Given the description of an element on the screen output the (x, y) to click on. 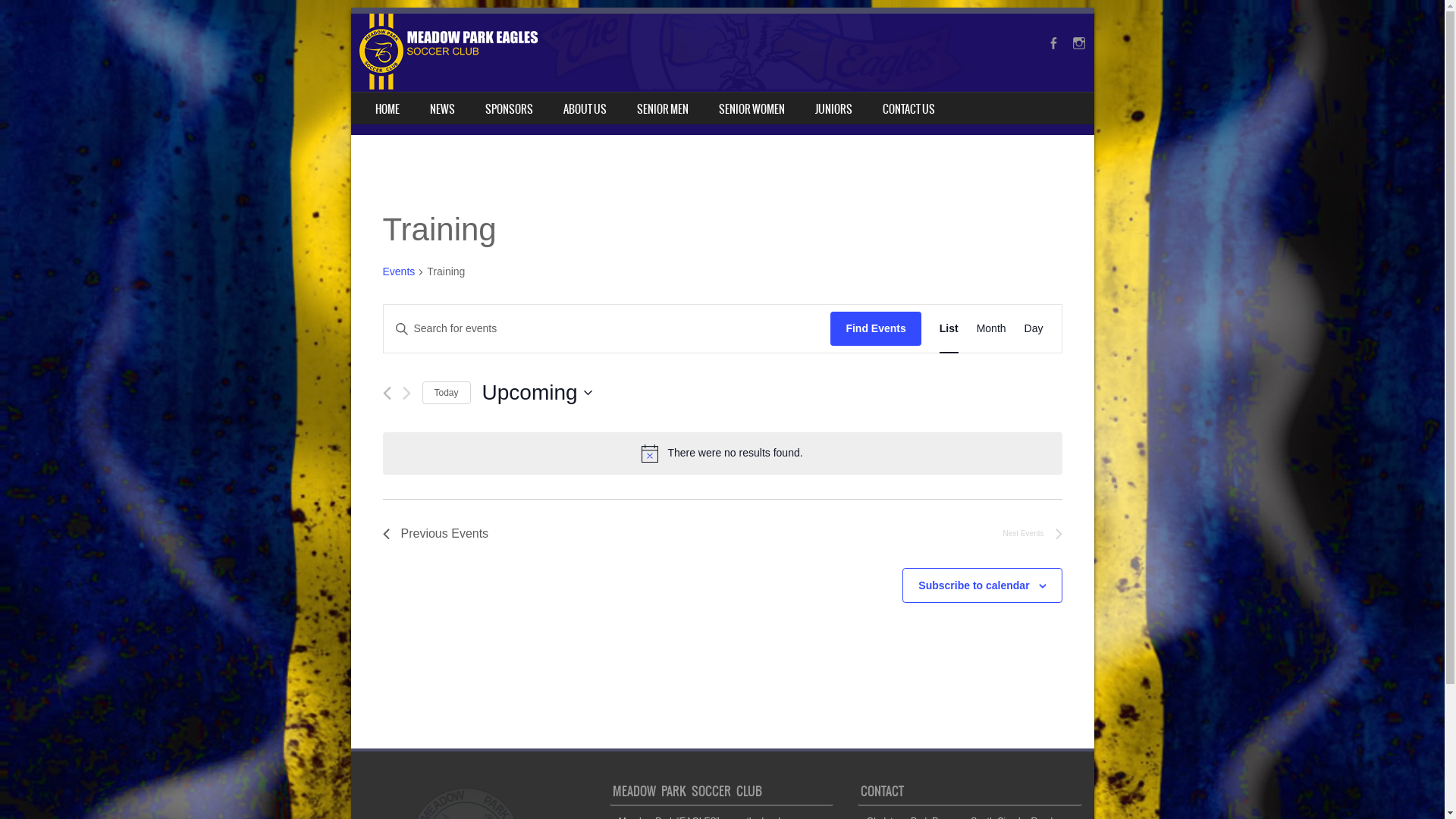
SPONSORS Element type: text (509, 108)
SKIP TO CONTENT Element type: text (386, 102)
Events Element type: text (398, 272)
Day Element type: text (1033, 328)
Month Element type: text (991, 328)
Next Events Element type: hover (405, 392)
Next Events Element type: text (1032, 533)
NEWS Element type: text (441, 108)
HOME Element type: text (386, 108)
JUNIORS Element type: text (832, 108)
SENIOR WOMEN Element type: text (751, 108)
Previous Events Element type: text (435, 533)
Upcoming Element type: text (537, 392)
Meadow Park Eagles Element type: hover (663, 85)
Find Events Element type: text (875, 328)
ABOUT US Element type: text (584, 108)
Today Element type: text (445, 392)
CONTACT US Element type: text (908, 108)
Subscribe to calendar Element type: text (973, 585)
SENIOR MEN Element type: text (662, 108)
Previous Events Element type: hover (386, 392)
List Element type: text (948, 328)
